Given the description of an element on the screen output the (x, y) to click on. 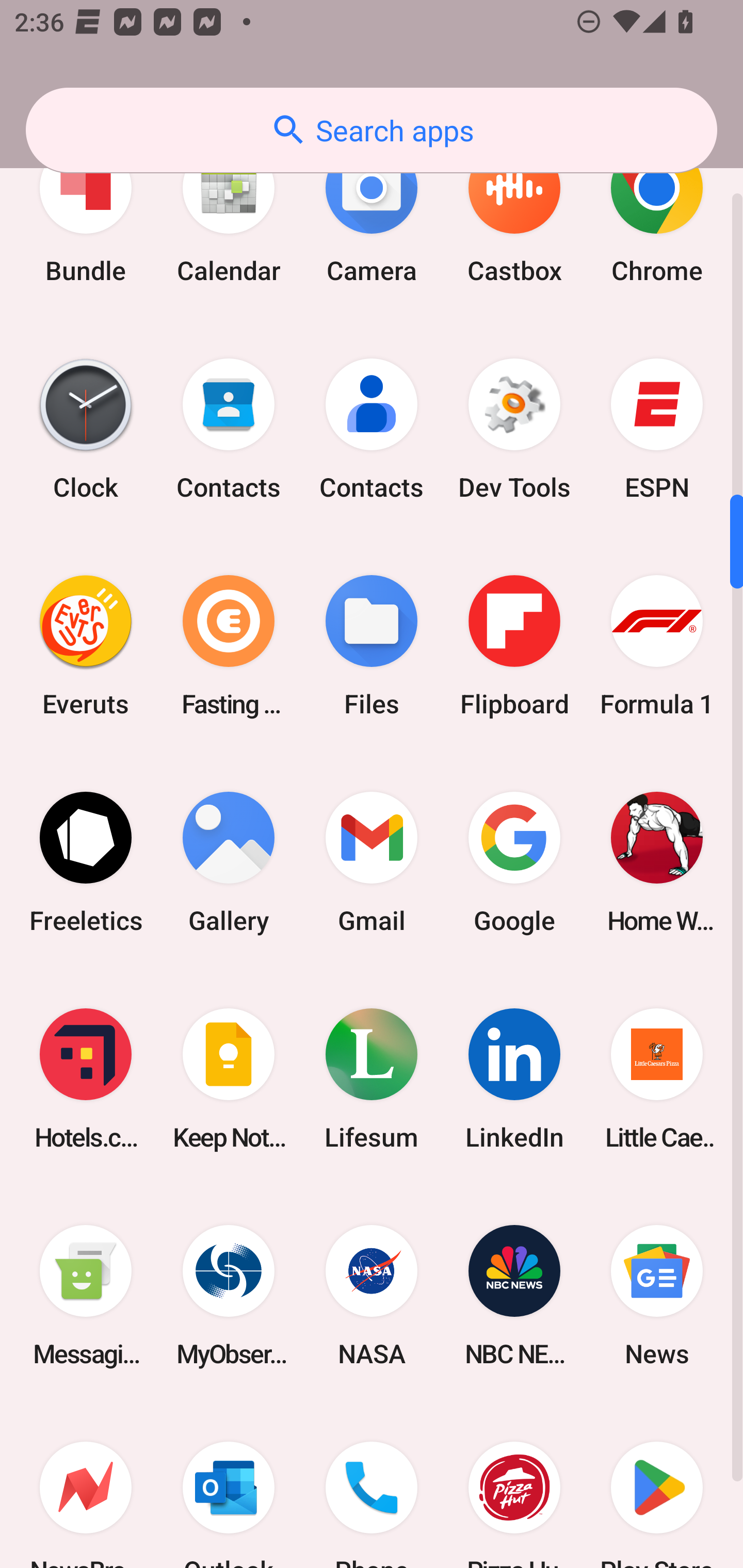
  Search apps (371, 130)
Bundle (85, 212)
Calendar (228, 212)
Camera (371, 212)
Castbox (514, 212)
Chrome (656, 212)
Clock (85, 429)
Contacts (228, 429)
Contacts (371, 429)
Dev Tools (514, 429)
ESPN (656, 429)
Everuts (85, 645)
Fasting Coach (228, 645)
Files (371, 645)
Flipboard (514, 645)
Formula 1 (656, 645)
Freeletics (85, 862)
Gallery (228, 862)
Gmail (371, 862)
Google (514, 862)
Home Workout (656, 862)
Hotels.com (85, 1078)
Keep Notes (228, 1078)
Lifesum (371, 1078)
LinkedIn (514, 1078)
Little Caesars Pizza (656, 1078)
Messaging (85, 1294)
MyObservatory (228, 1294)
NASA (371, 1294)
NBC NEWS (514, 1294)
News (656, 1294)
NewsBreak (85, 1485)
Outlook (228, 1485)
Phone (371, 1485)
Pizza Hut HK & Macau (514, 1485)
Play Store (656, 1485)
